Given the description of an element on the screen output the (x, y) to click on. 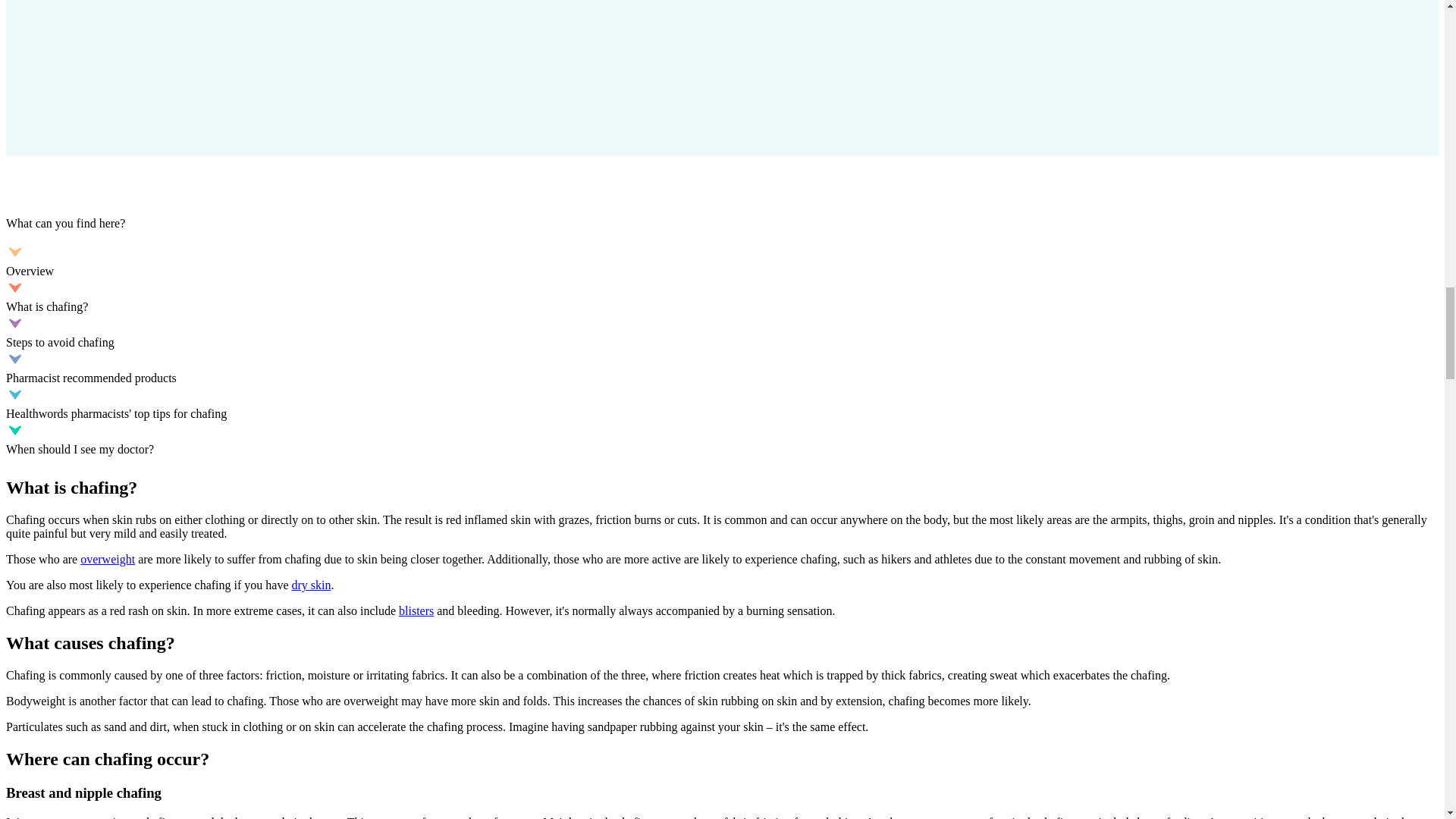
blisters (415, 610)
dry skin (310, 584)
overweight (107, 558)
